Given the description of an element on the screen output the (x, y) to click on. 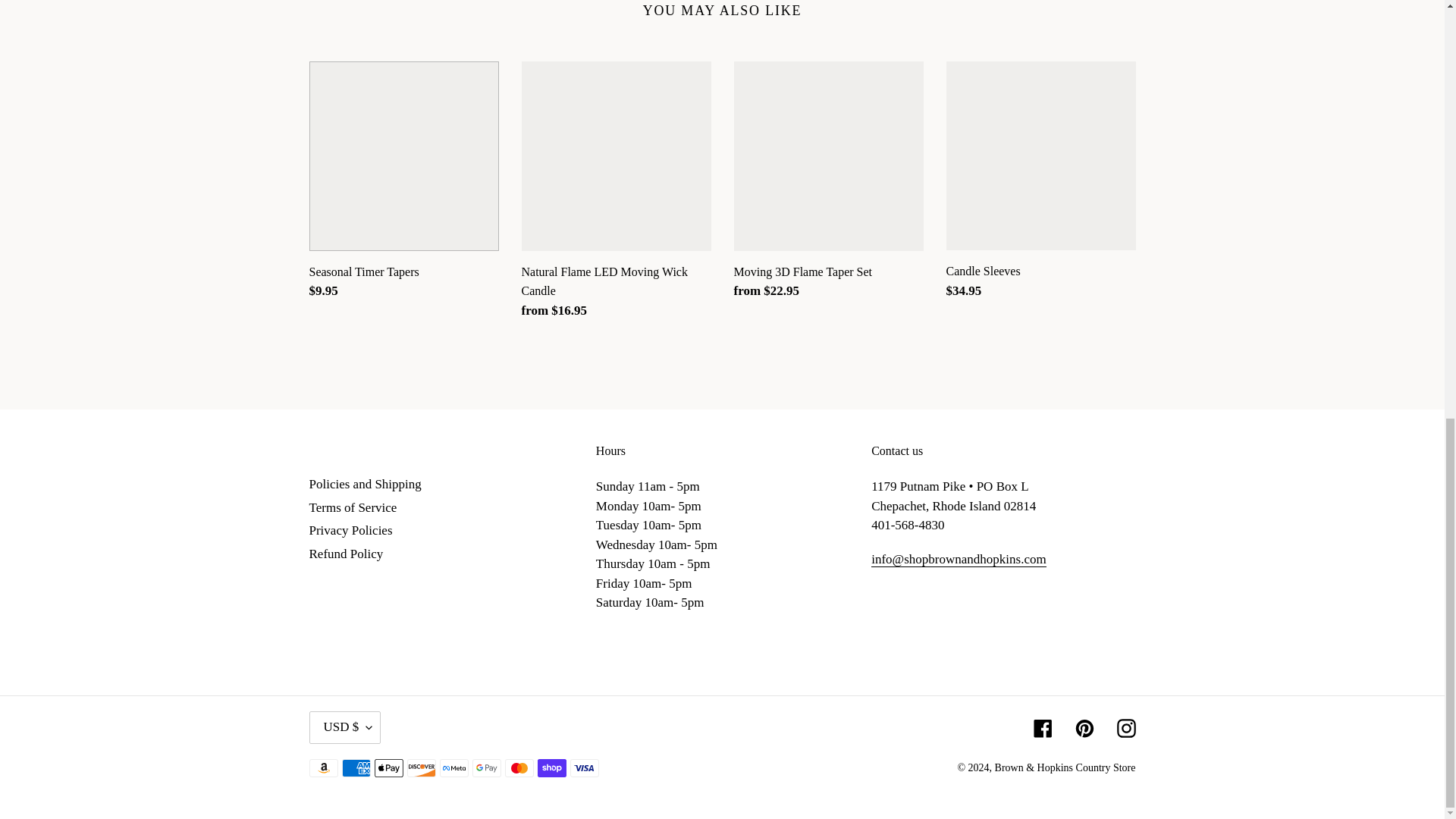
Privacy Policies (350, 530)
Terms of Service (352, 506)
Refund Policy (346, 554)
Policies and Shipping (365, 483)
